Given the description of an element on the screen output the (x, y) to click on. 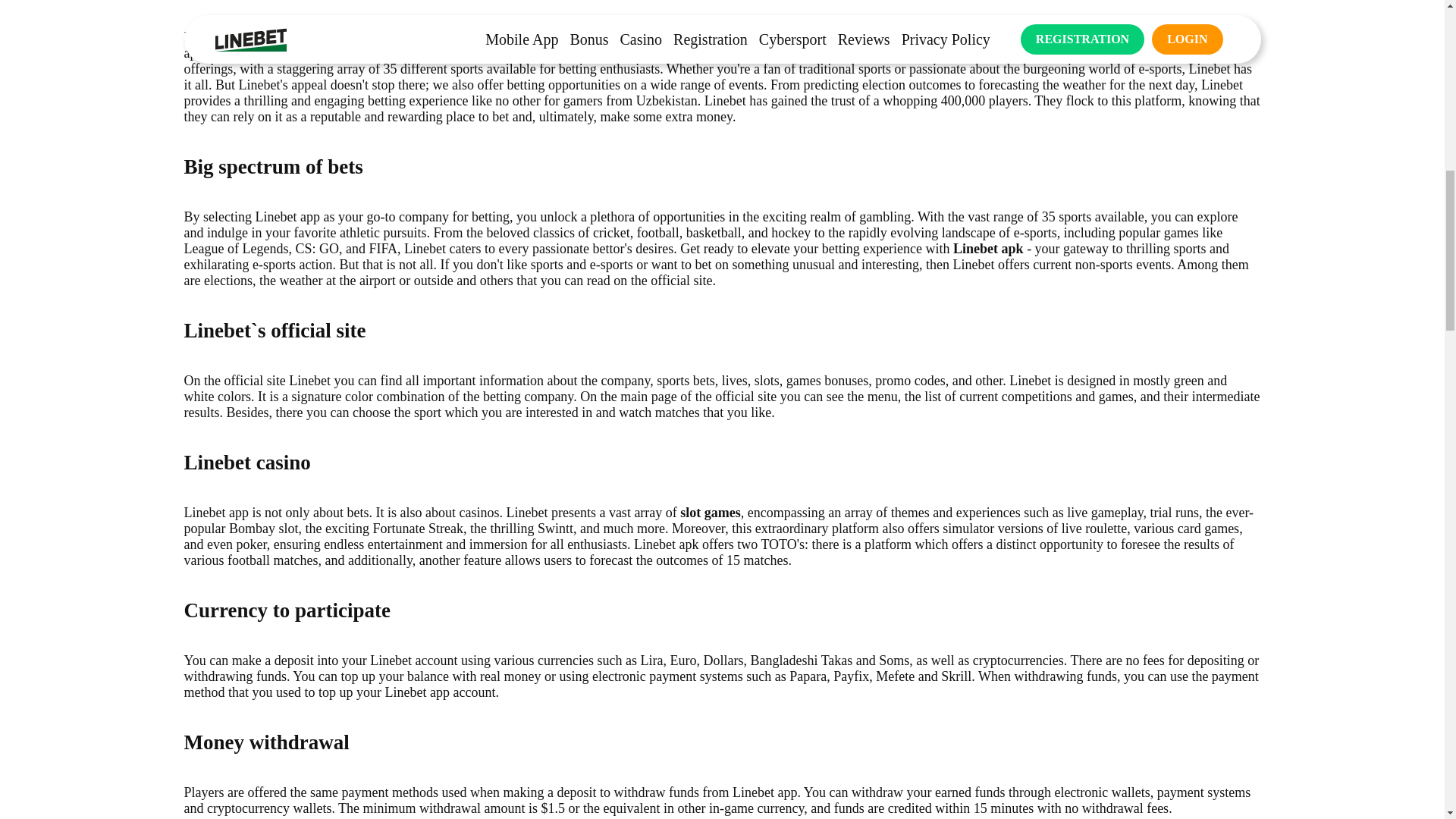
slot games (710, 512)
Linebet apk (988, 248)
